Given the description of an element on the screen output the (x, y) to click on. 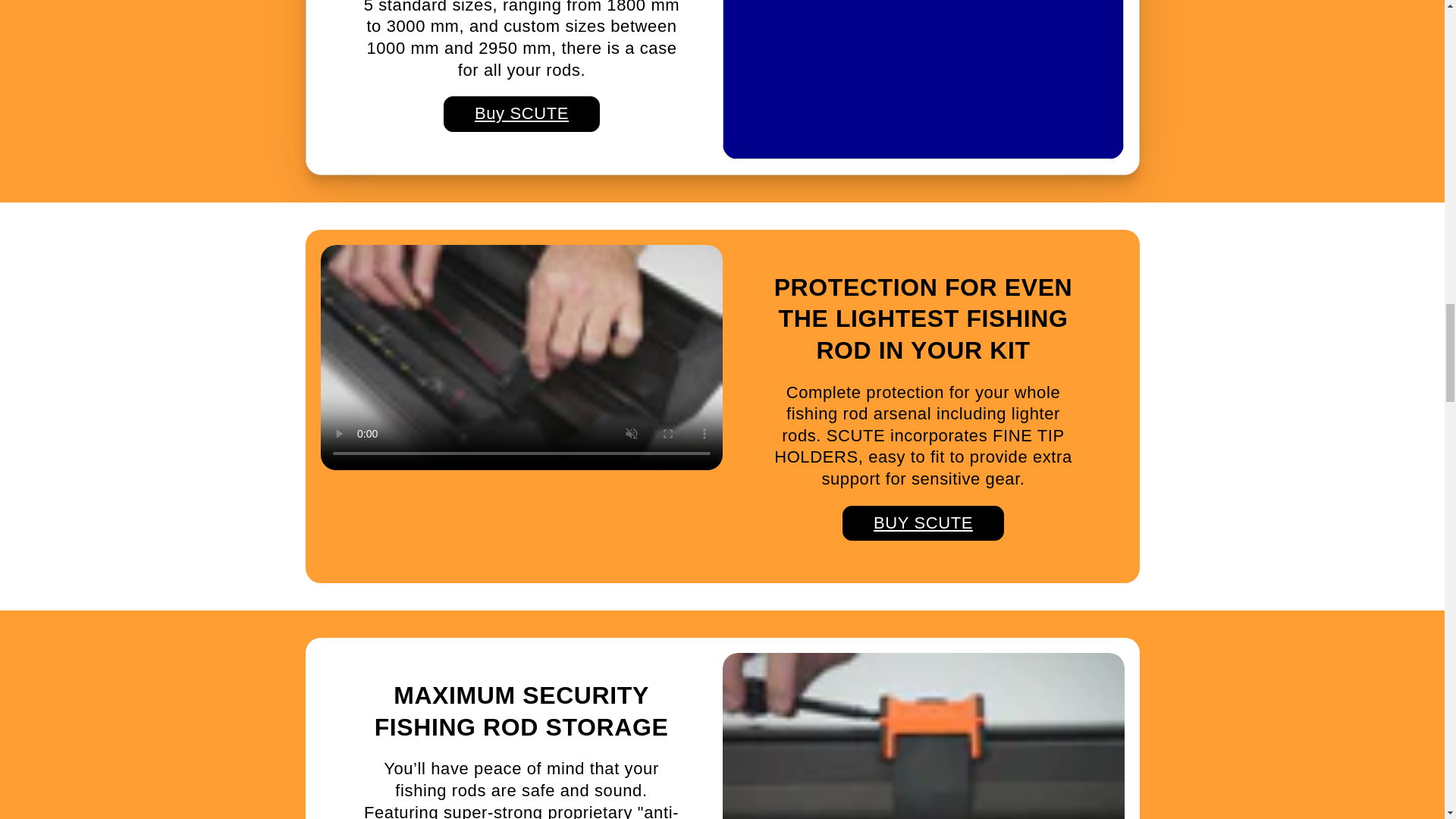
Buy SCUTE (521, 113)
BUY SCUTE (923, 523)
